Given the description of an element on the screen output the (x, y) to click on. 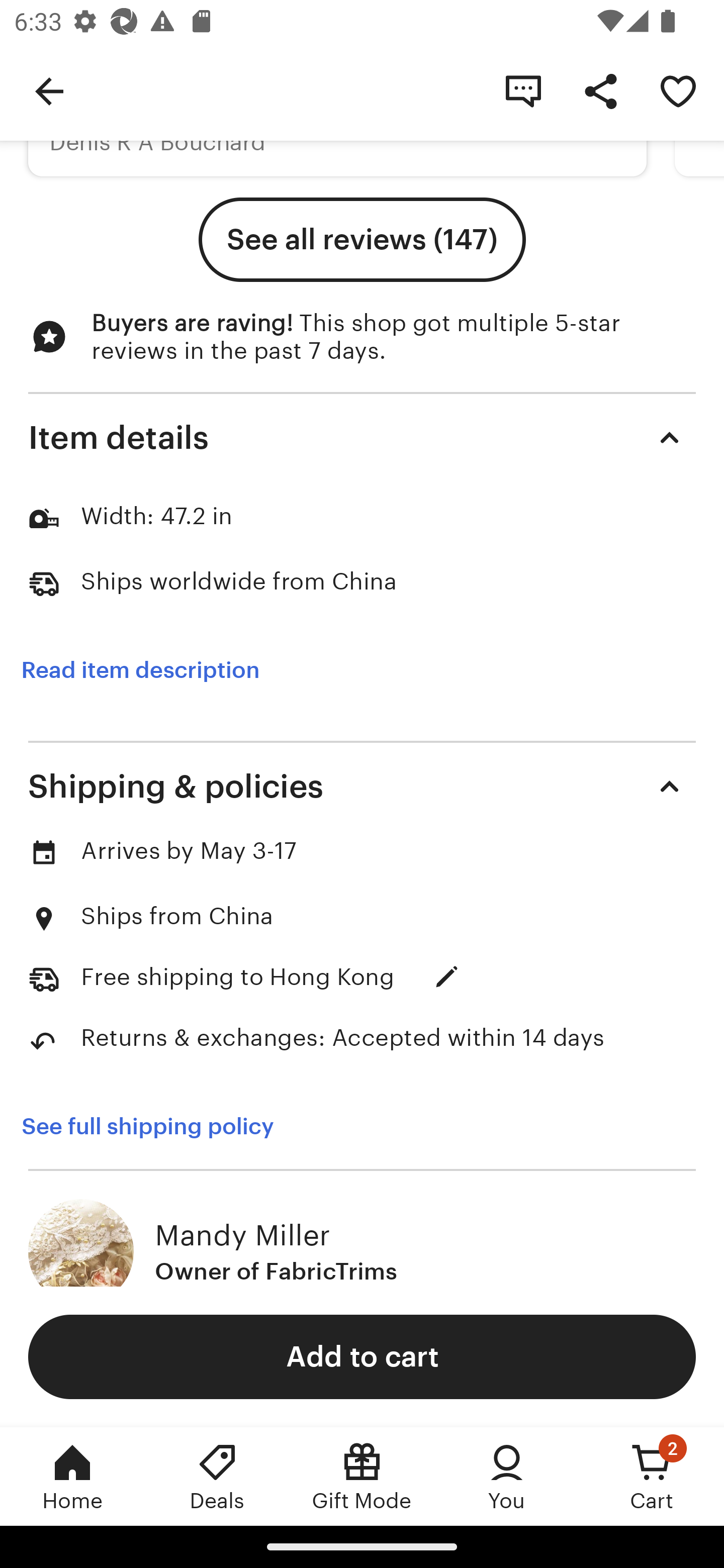
Navigate up (49, 90)
Contact shop (523, 90)
Share (600, 90)
See all reviews (147) (361, 239)
Item details (362, 437)
Read item description (140, 669)
Shipping & policies (362, 786)
Update (446, 976)
See full shipping policy (147, 1127)
Add to cart (361, 1355)
Deals (216, 1475)
Gift Mode (361, 1475)
You (506, 1475)
Cart, 2 new notifications Cart (651, 1475)
